Given the description of an element on the screen output the (x, y) to click on. 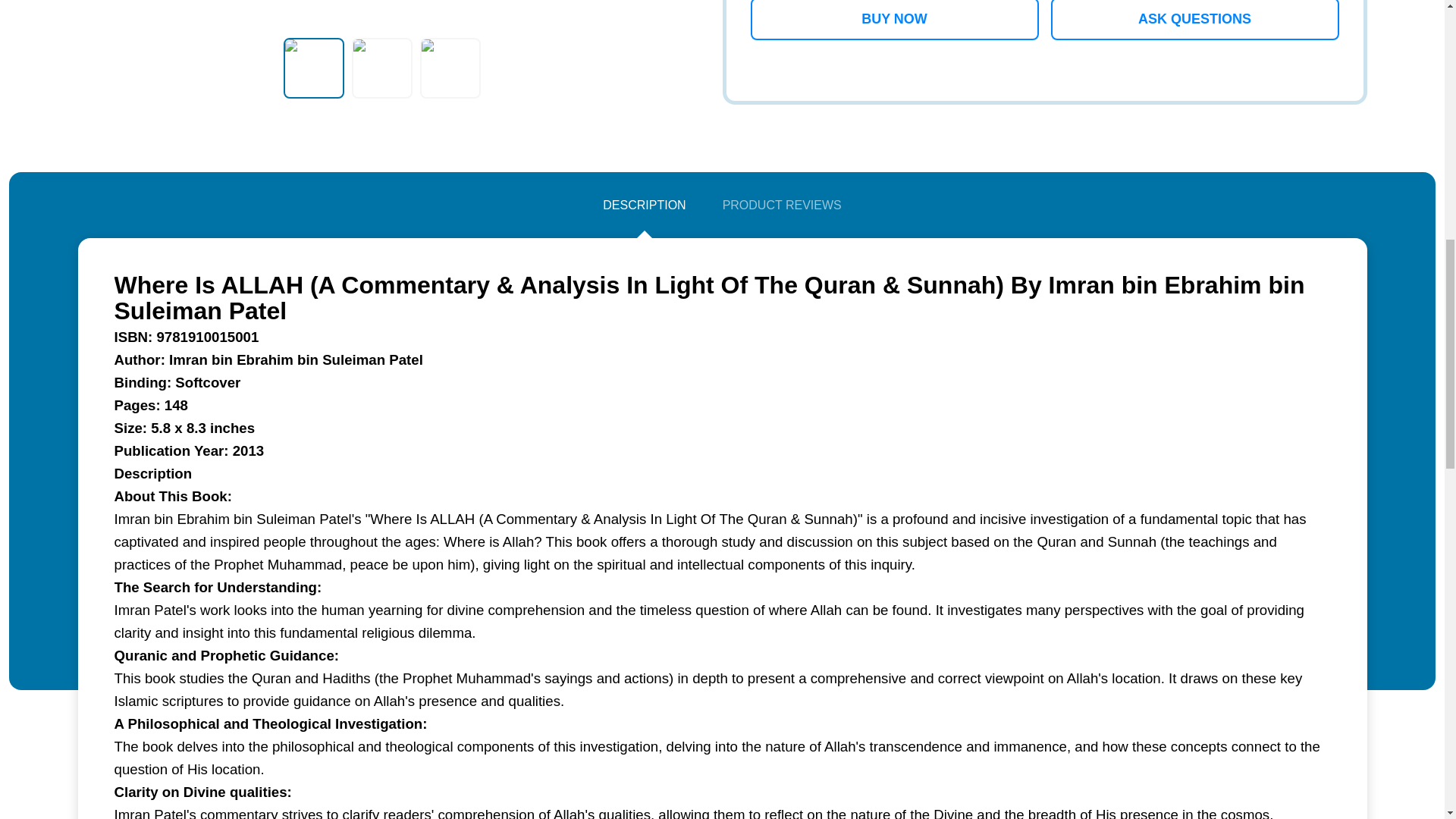
Buy Now (895, 19)
